Given the description of an element on the screen output the (x, y) to click on. 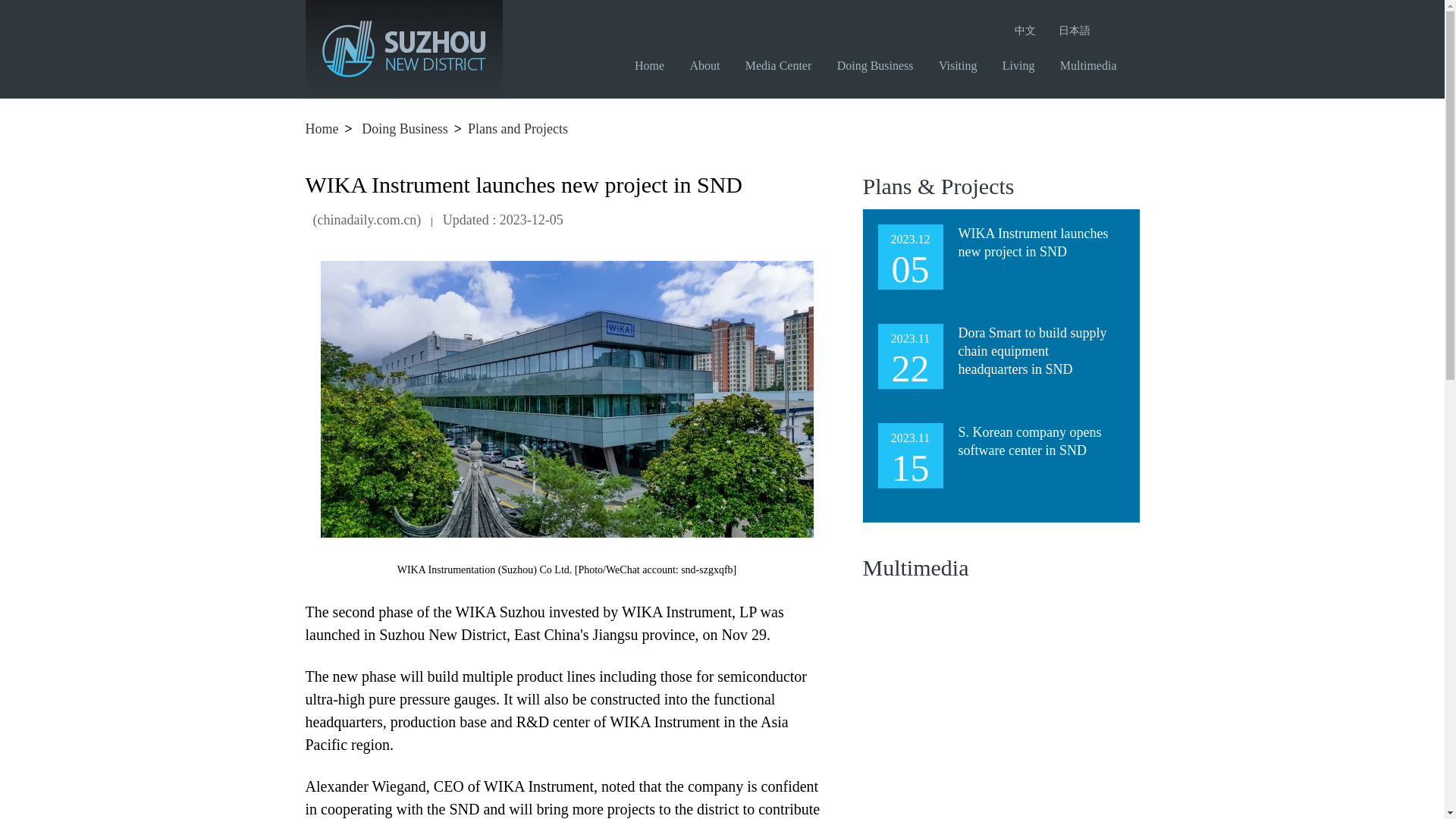
About (709, 65)
Doing Business (404, 128)
Visiting (963, 65)
Media Center (784, 65)
Home (320, 128)
Plans and Projects (517, 128)
Living (1024, 65)
Home (654, 65)
Doing Business (880, 65)
Multimedia (1093, 65)
